Given the description of an element on the screen output the (x, y) to click on. 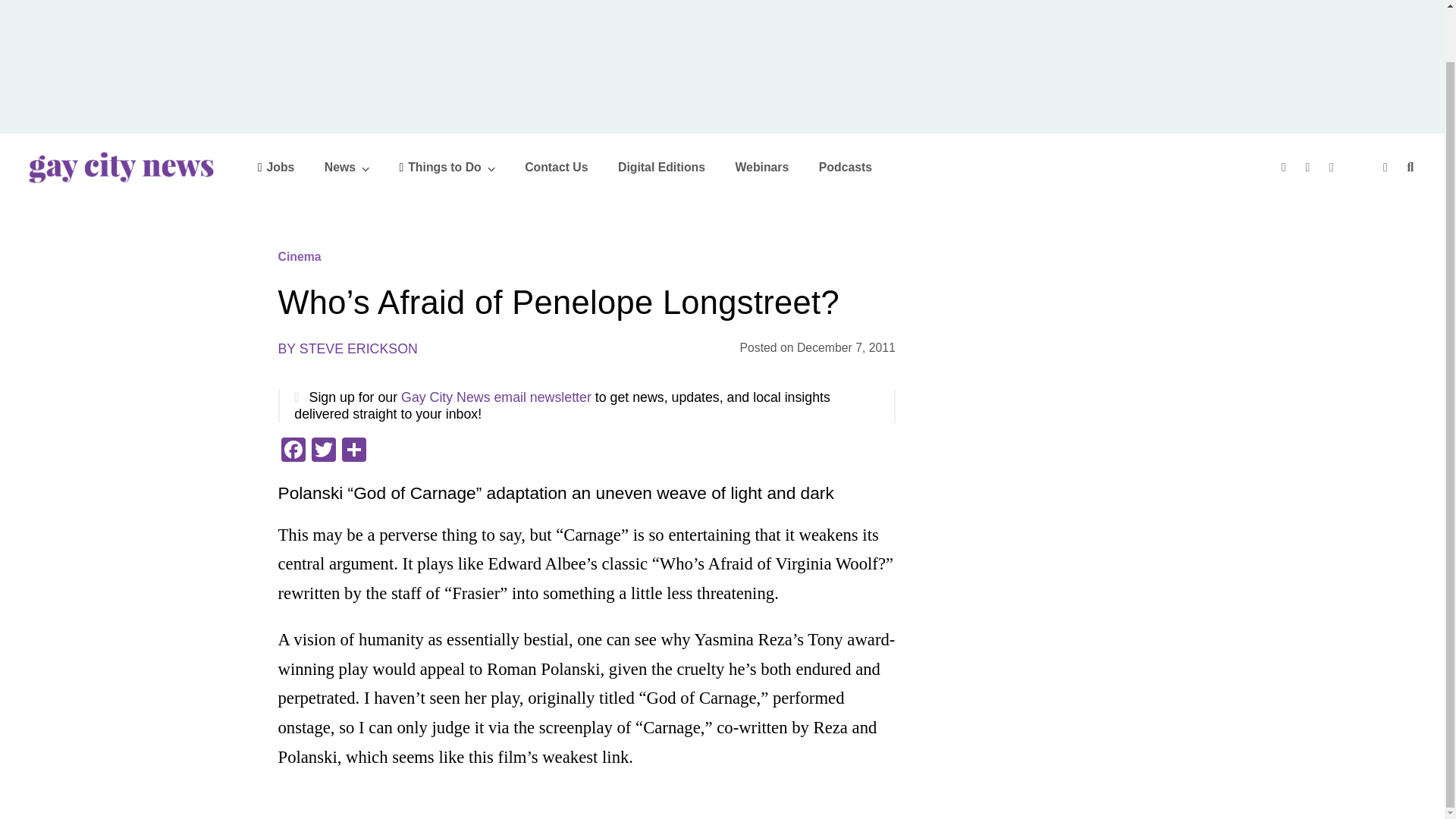
Twitter (322, 451)
Digital Editions (660, 166)
News (346, 166)
Webinars (762, 166)
Facebook (292, 451)
Jobs (276, 166)
Podcasts (845, 166)
Things to Do (446, 166)
Contact Us (556, 166)
